Given the description of an element on the screen output the (x, y) to click on. 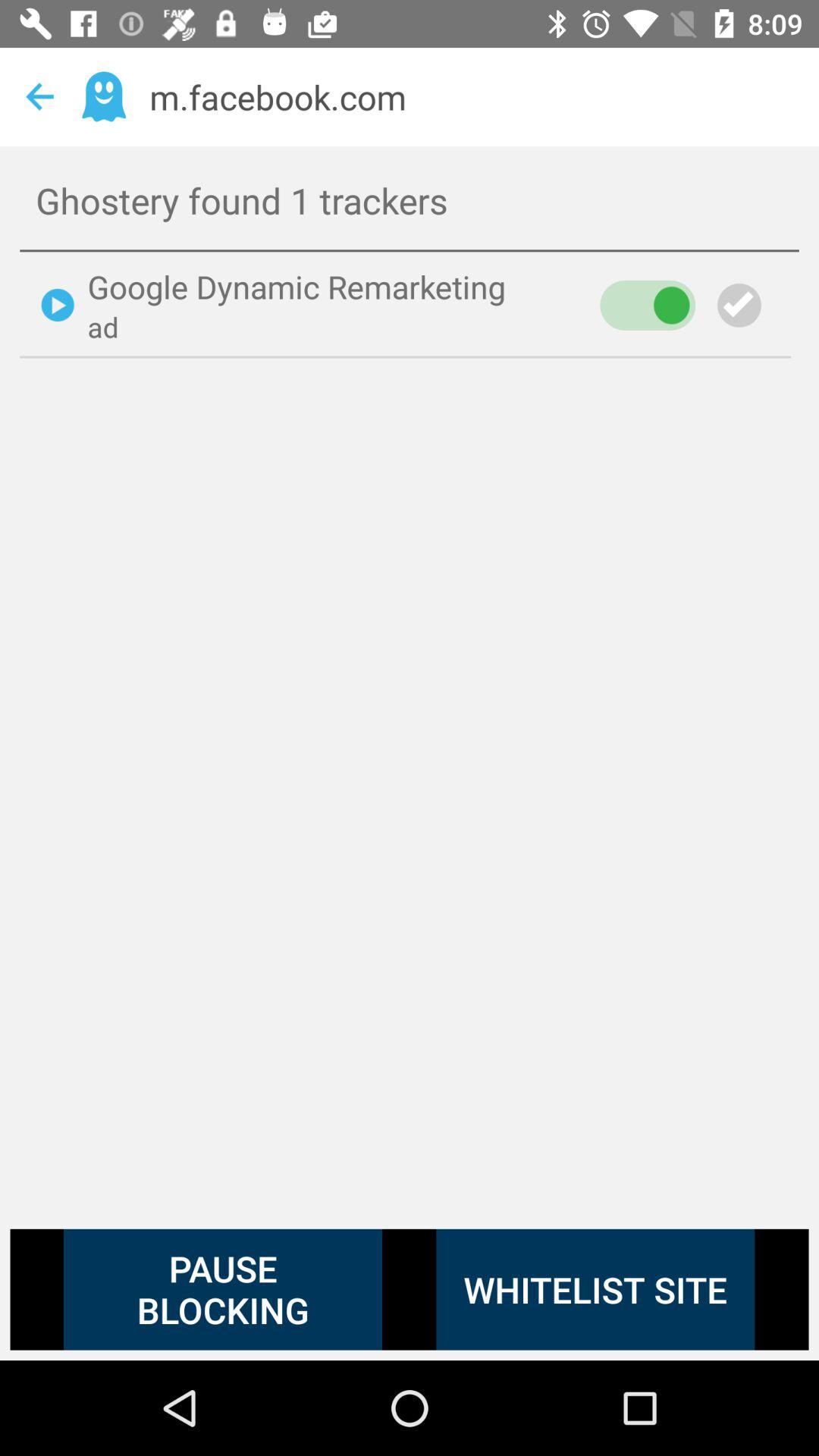
whitelist site (594, 1289)
click on select icon (748, 304)
select the slide button (647, 305)
